Given the description of an element on the screen output the (x, y) to click on. 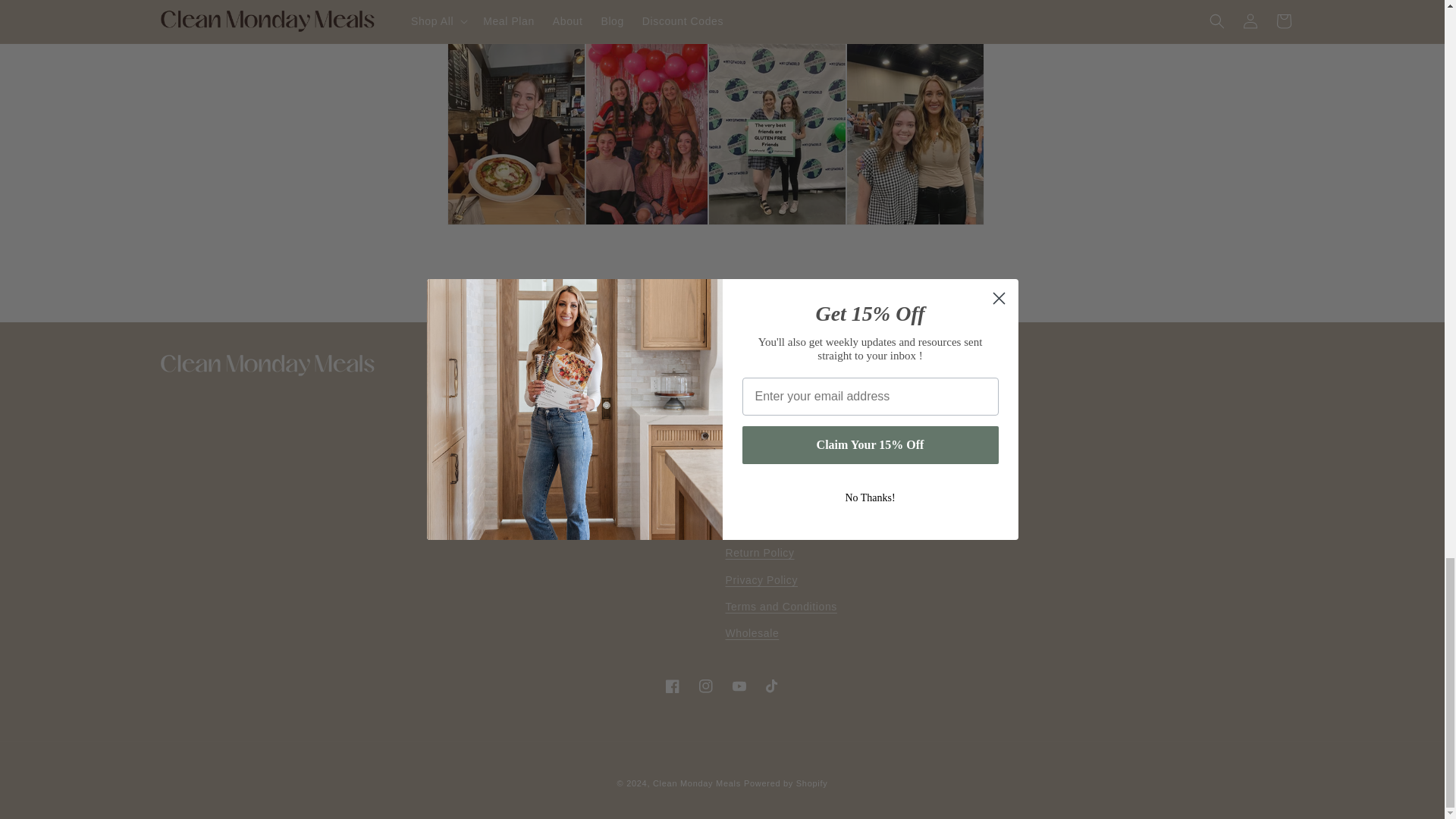
Gift Cards (751, 420)
Search (743, 395)
